Given the description of an element on the screen output the (x, y) to click on. 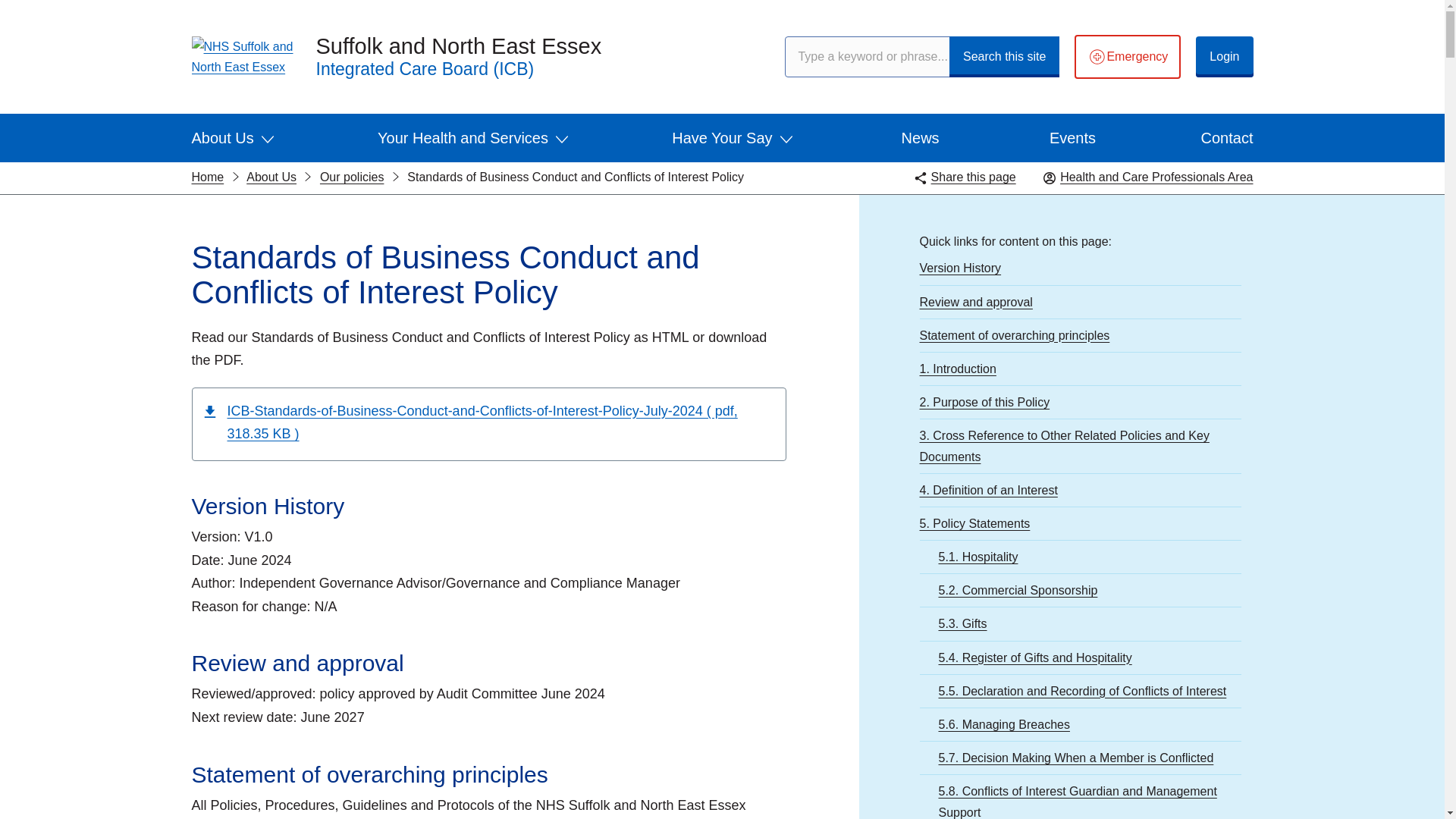
NHS Suffolk and North East Essex ICB website home page (241, 56)
Search this site (1004, 56)
Login (1223, 56)
About Us (232, 137)
Emergency (1127, 56)
